Given the description of an element on the screen output the (x, y) to click on. 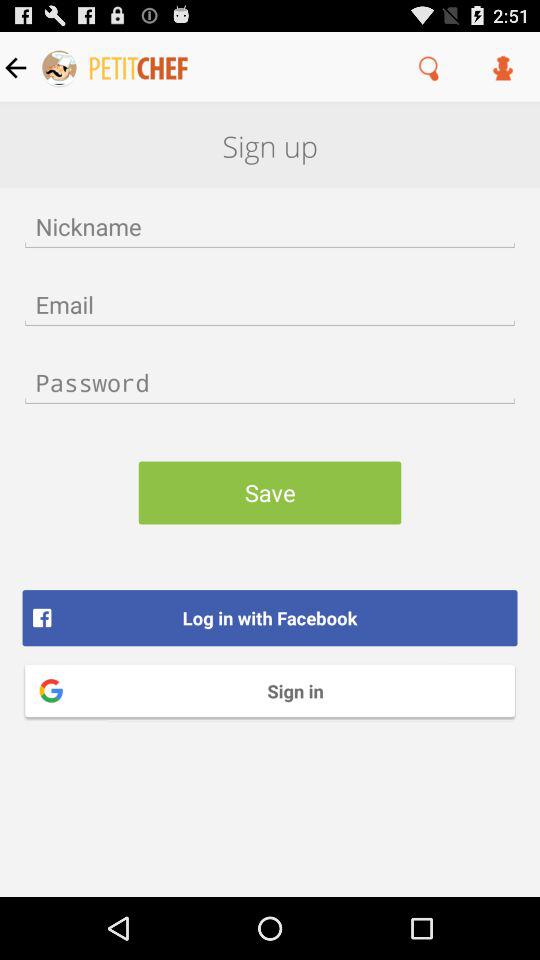
jump to log in with item (269, 617)
